Given the description of an element on the screen output the (x, y) to click on. 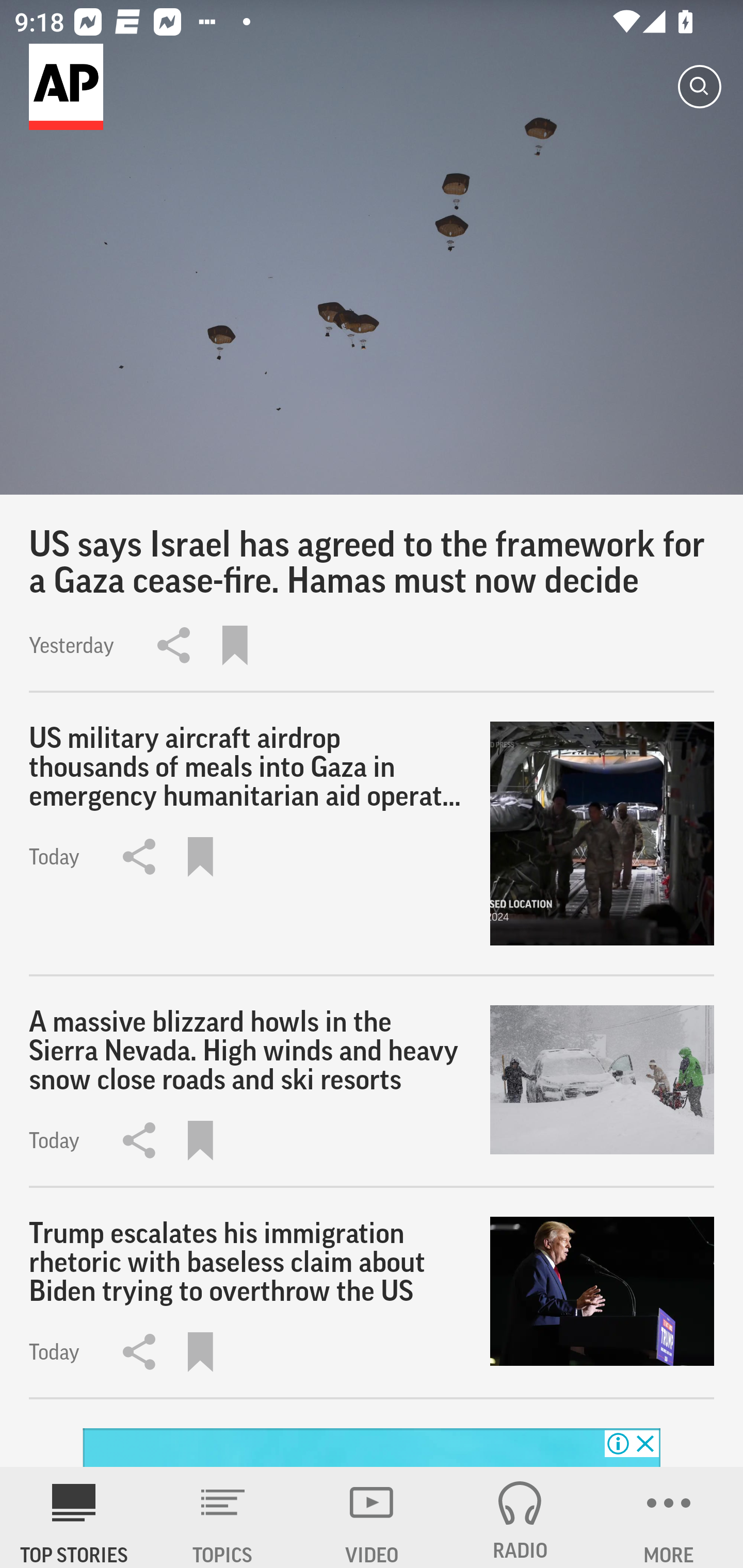
AP News TOP STORIES (74, 1517)
TOPICS (222, 1517)
VIDEO (371, 1517)
RADIO (519, 1517)
MORE (668, 1517)
